Given the description of an element on the screen output the (x, y) to click on. 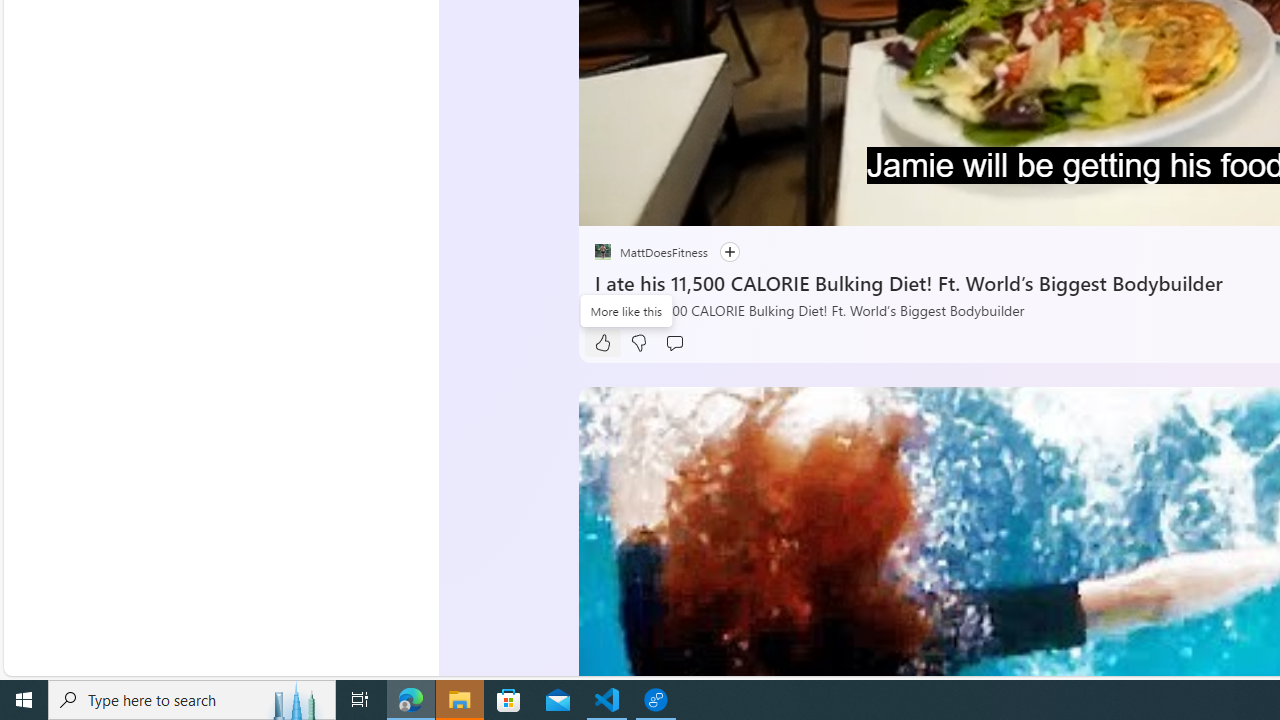
placeholder (601, 252)
Dislike (637, 343)
Seek Back (648, 203)
Pause (607, 203)
Start the conversation (673, 343)
Seek Forward (688, 203)
Follow (729, 251)
Like (601, 343)
